Given the description of an element on the screen output the (x, y) to click on. 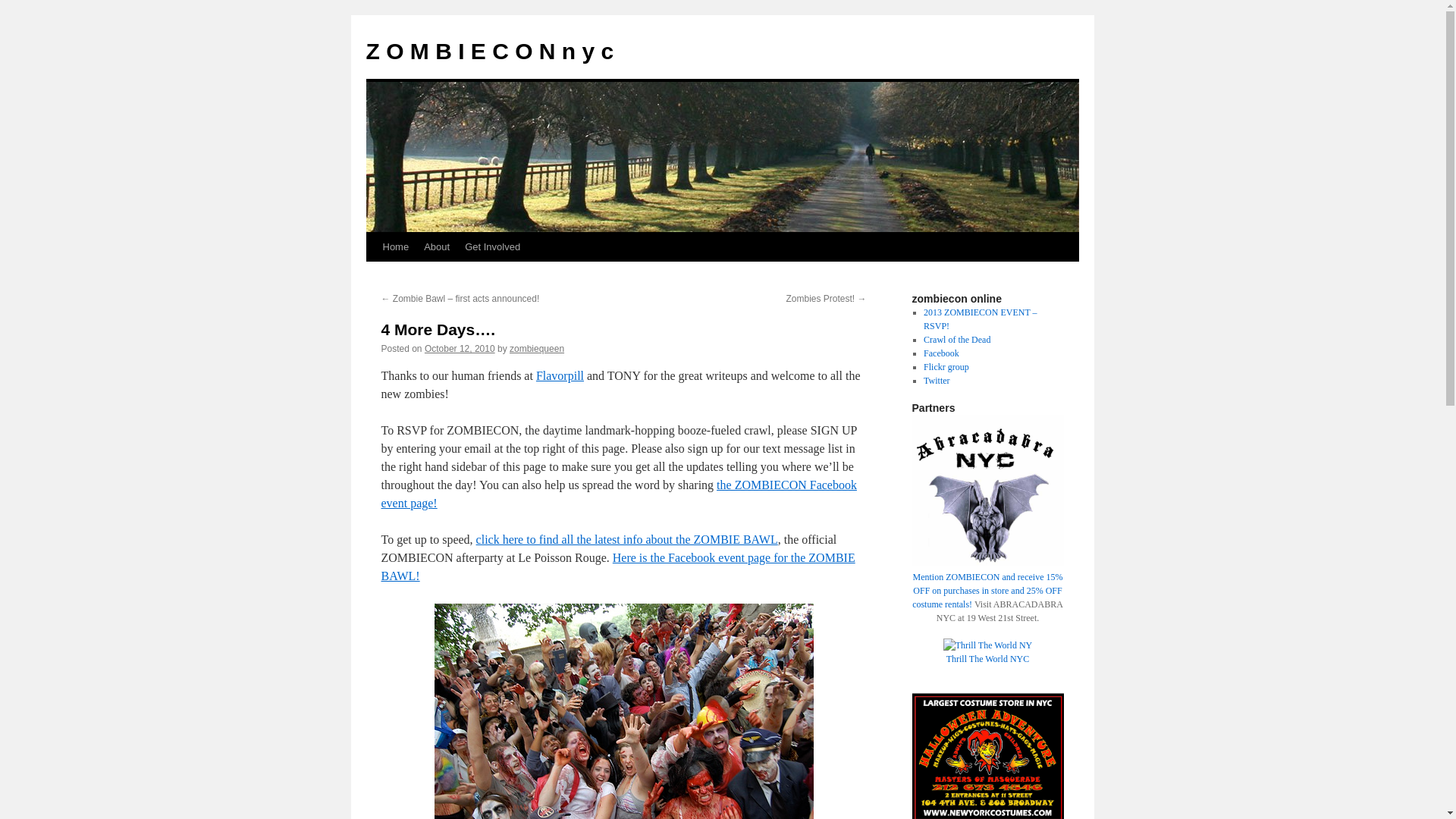
Zombies outside the plaza, 2007 (622, 711)
Z O M B I E C O N n y c (488, 50)
Flavorpill (559, 375)
RSVP here for our 2013 NYC event! (979, 319)
add ZOMBIECON NYC on facebook (941, 353)
Crawl of the Dead (956, 339)
the ZOMBIECON Facebook event page! (618, 493)
click here to find all the latest info about the ZOMBIE BAWL (626, 539)
Facebook (941, 353)
add ZOMBIECON NYC on Crawl of the Dead (956, 339)
Thrill The World NYC (987, 651)
Z O M B I E C O N   n y c (488, 50)
Flickr group (946, 366)
October 12, 2010 (460, 348)
10:55 pm (460, 348)
